Given the description of an element on the screen output the (x, y) to click on. 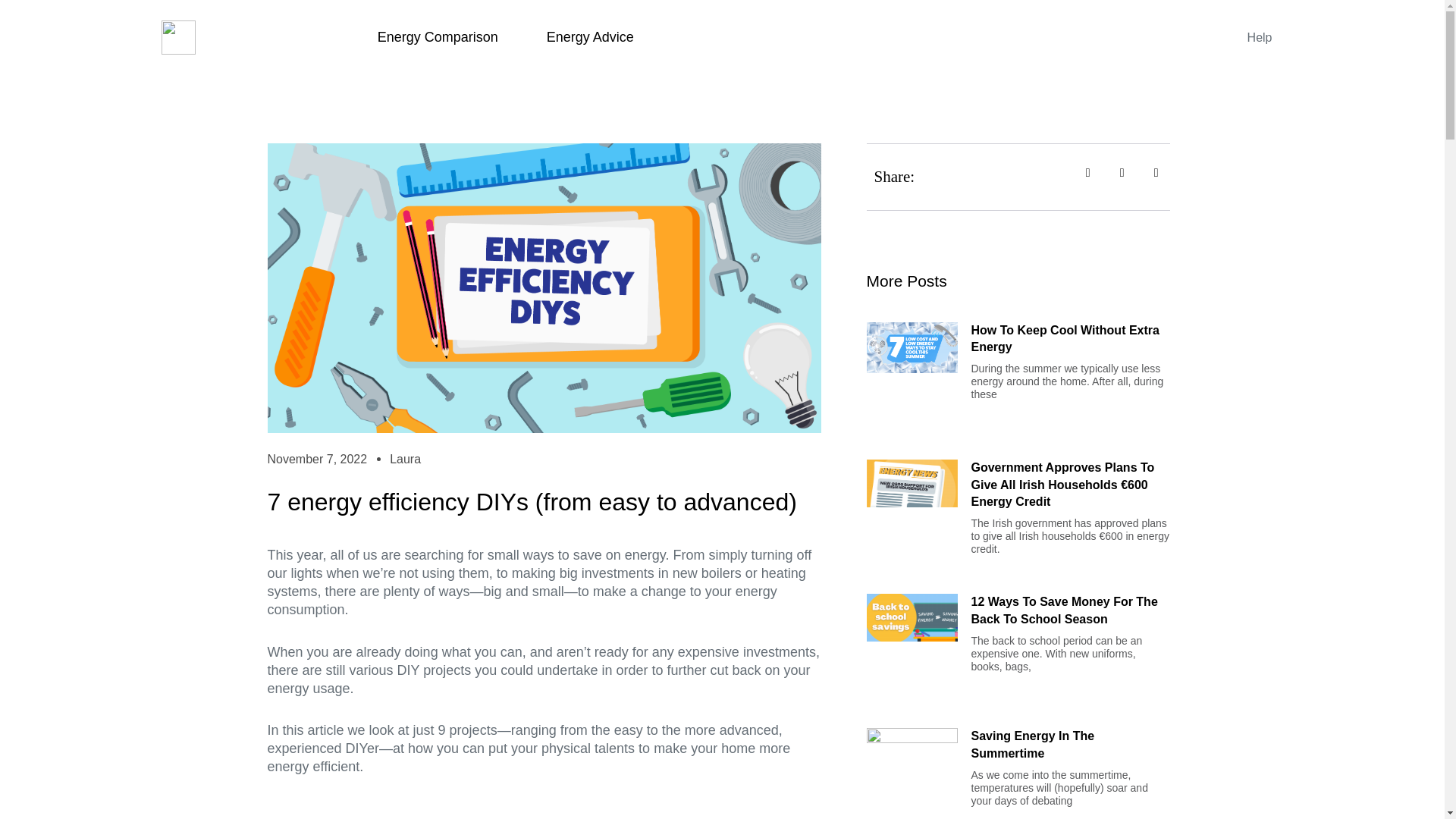
Energy Comparison (437, 37)
How To Keep Cool Without Extra Energy  (1064, 337)
Laura (405, 458)
Energy Advice (590, 37)
